Given the description of an element on the screen output the (x, y) to click on. 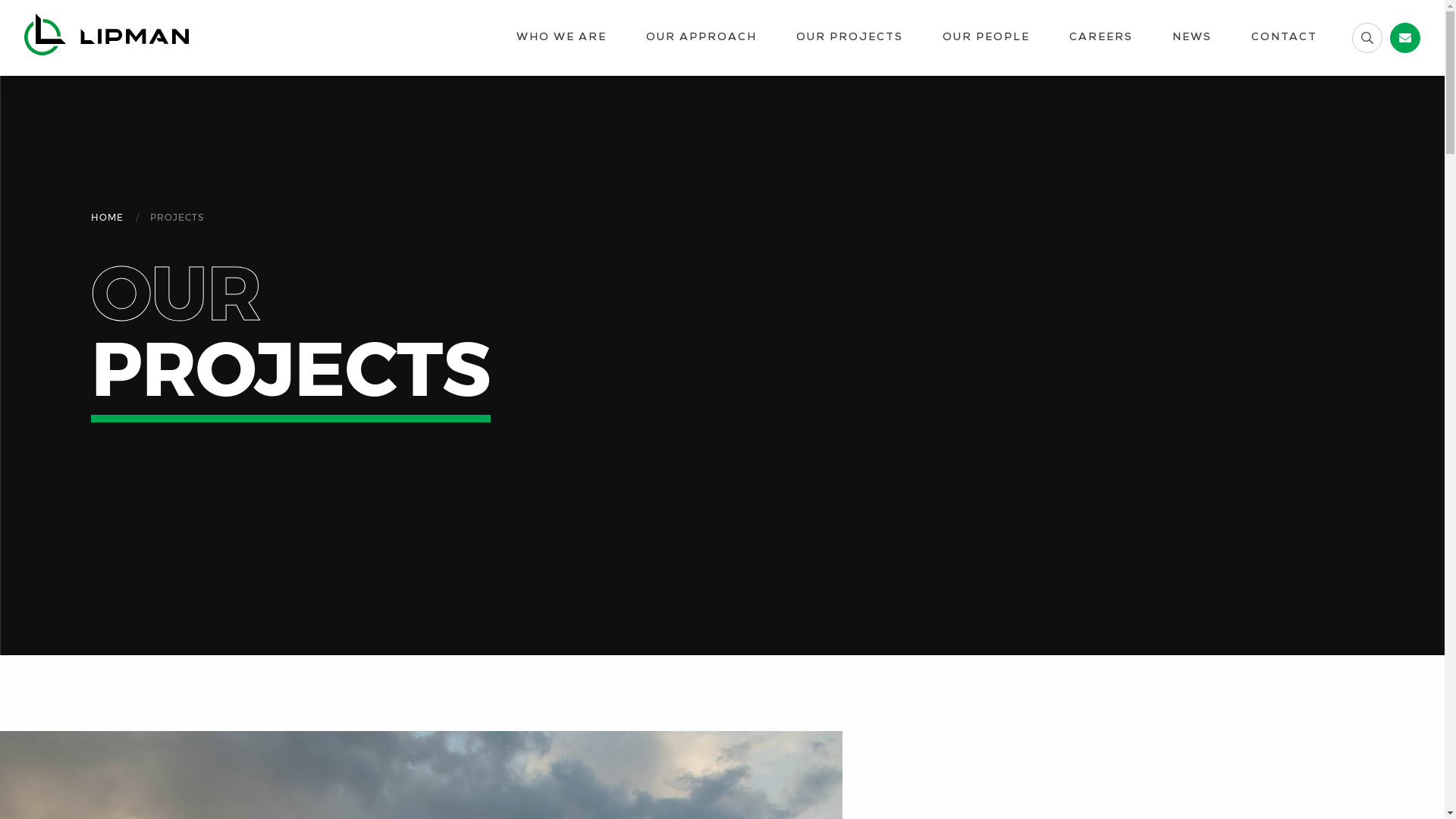
OUR APPROACH Element type: text (701, 37)
CONTACT Element type: text (1284, 37)
OUR PROJECTS Element type: text (849, 37)
WHO WE ARE Element type: text (561, 37)
HOME Element type: text (107, 217)
Search Element type: text (25, 9)
CAREERS Element type: text (1100, 37)
OUR PEOPLE Element type: text (985, 37)
NEWS Element type: text (1191, 37)
